Given the description of an element on the screen output the (x, y) to click on. 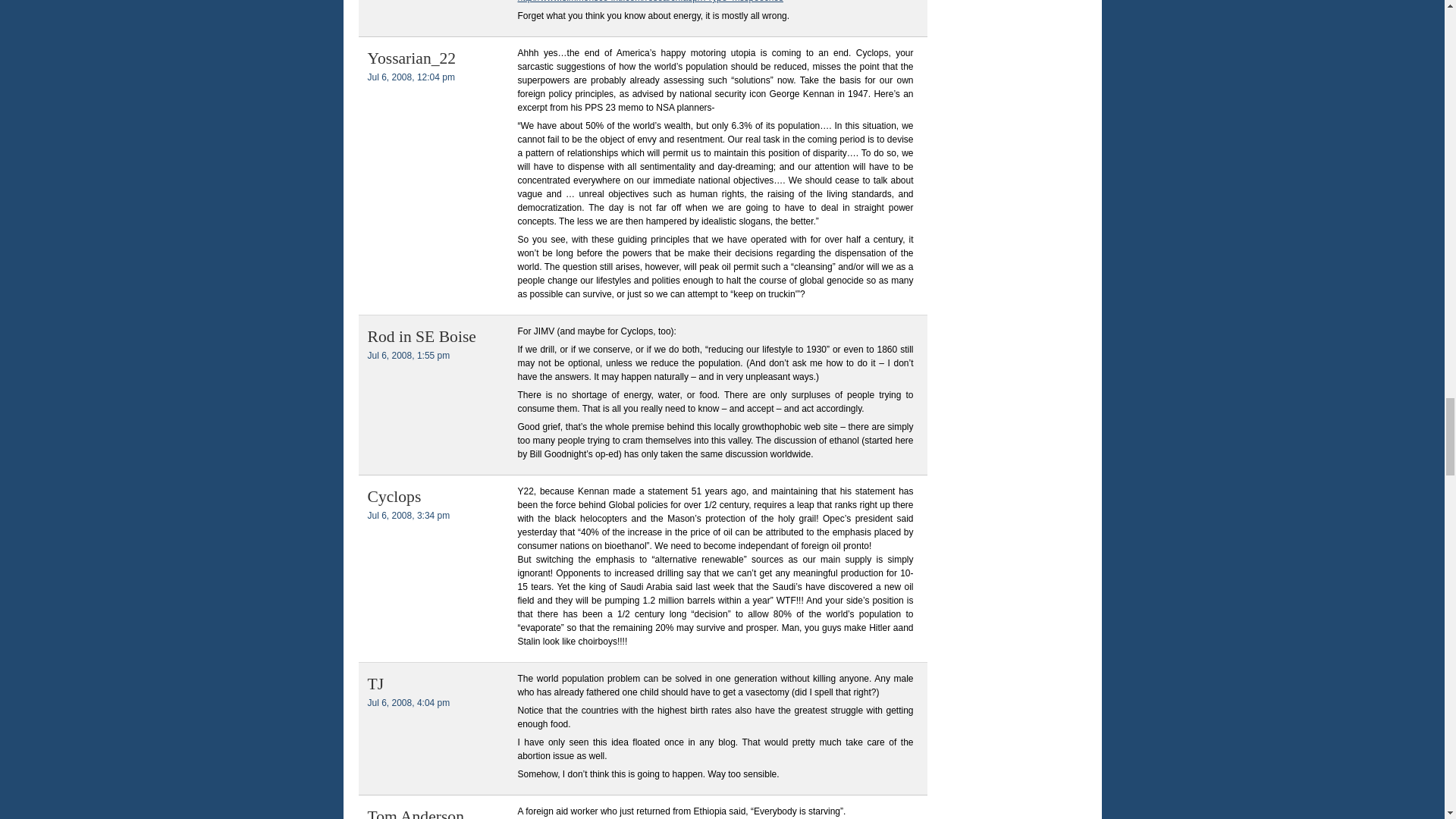
Jul 6, 2008, 3:34 pm (407, 515)
Jul 6, 2008, 4:04 pm (407, 702)
Jul 6, 2008, 12:04 pm (410, 77)
Jul 6, 2008, 1:55 pm (407, 355)
